Given the description of an element on the screen output the (x, y) to click on. 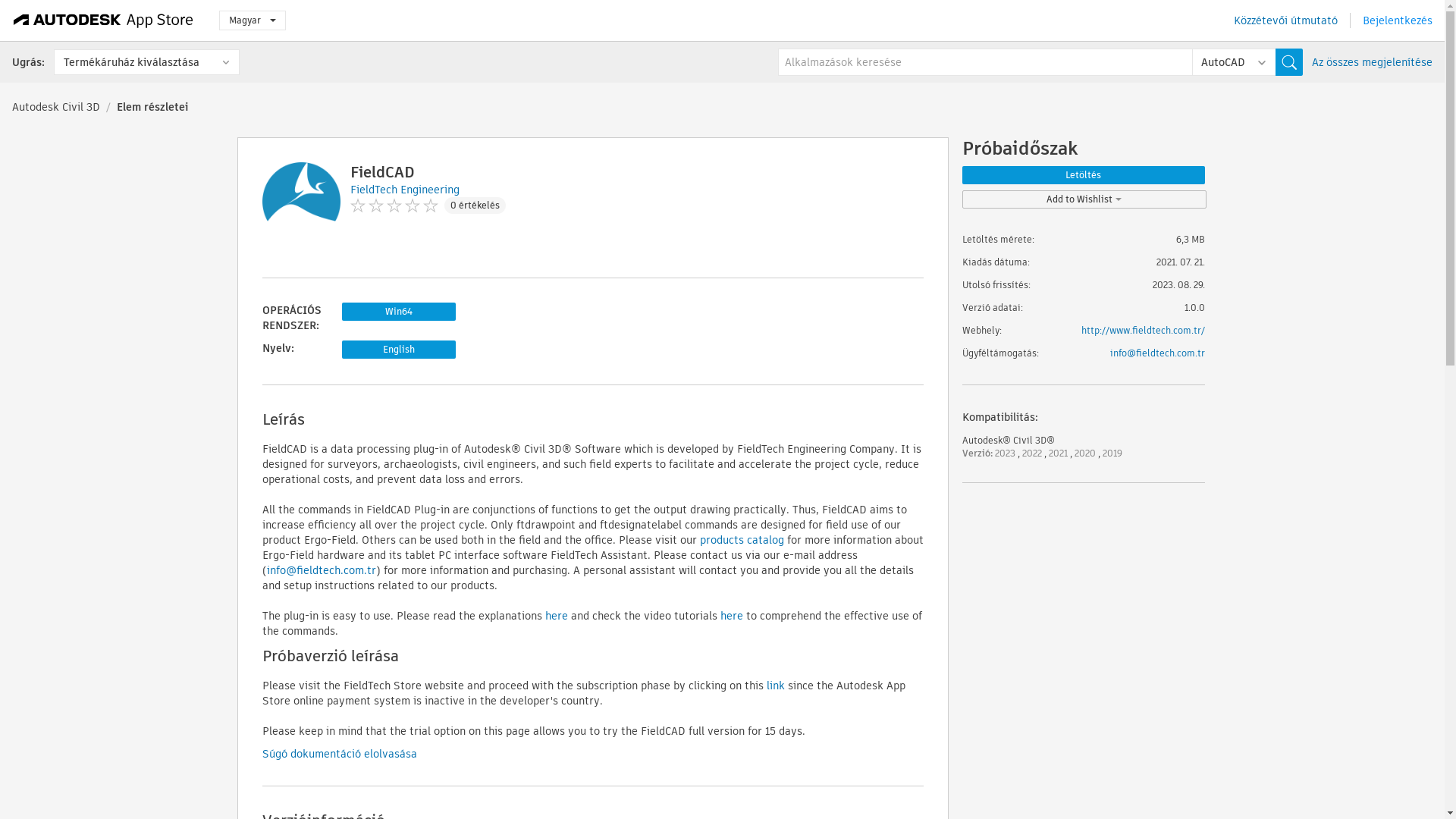
FieldCAD (382, 171)
Magyar (252, 20)
Autodesk App Store (103, 20)
